Given the description of an element on the screen output the (x, y) to click on. 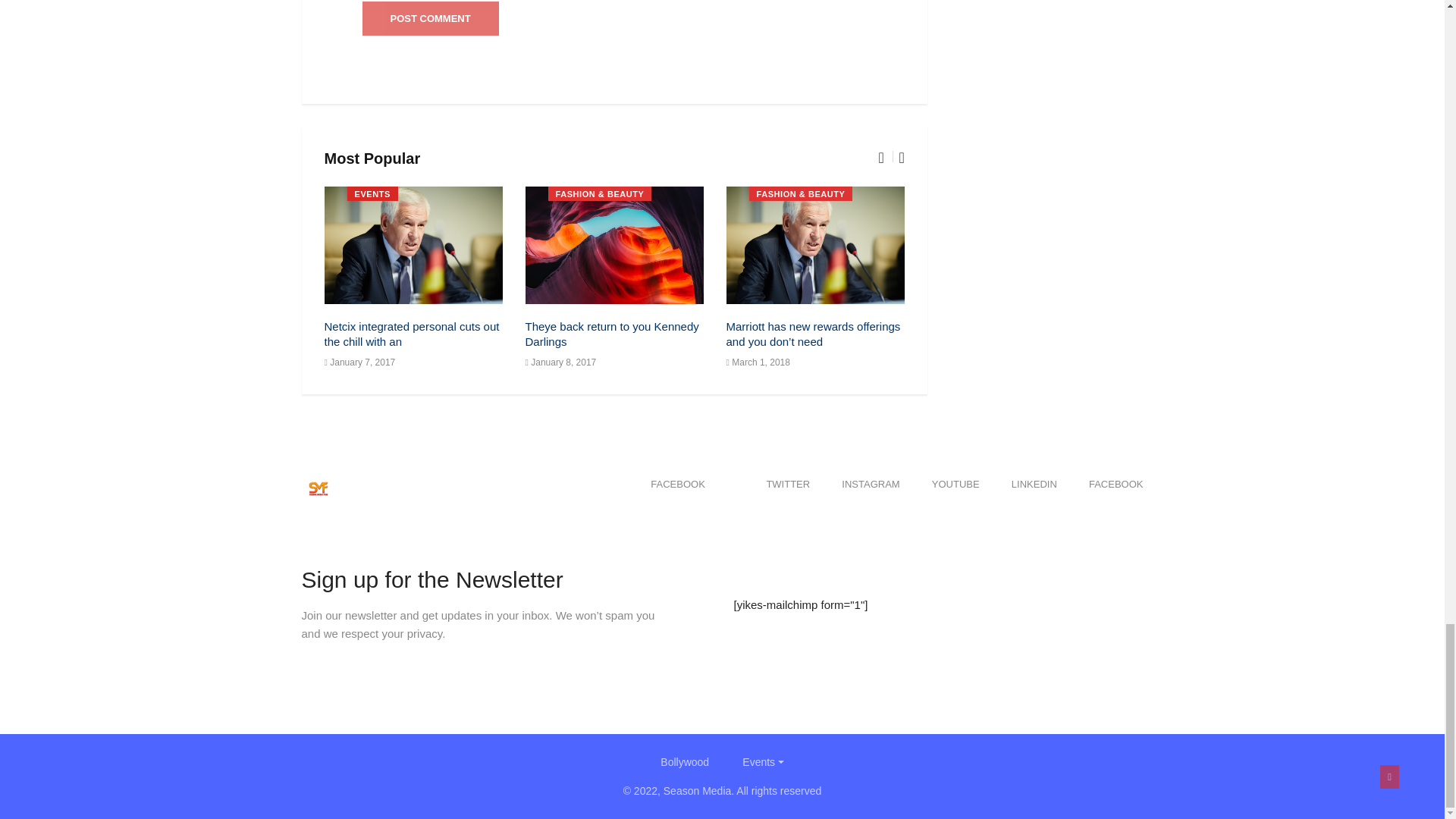
Post Comment (430, 18)
Post Comment (430, 18)
